Given the description of an element on the screen output the (x, y) to click on. 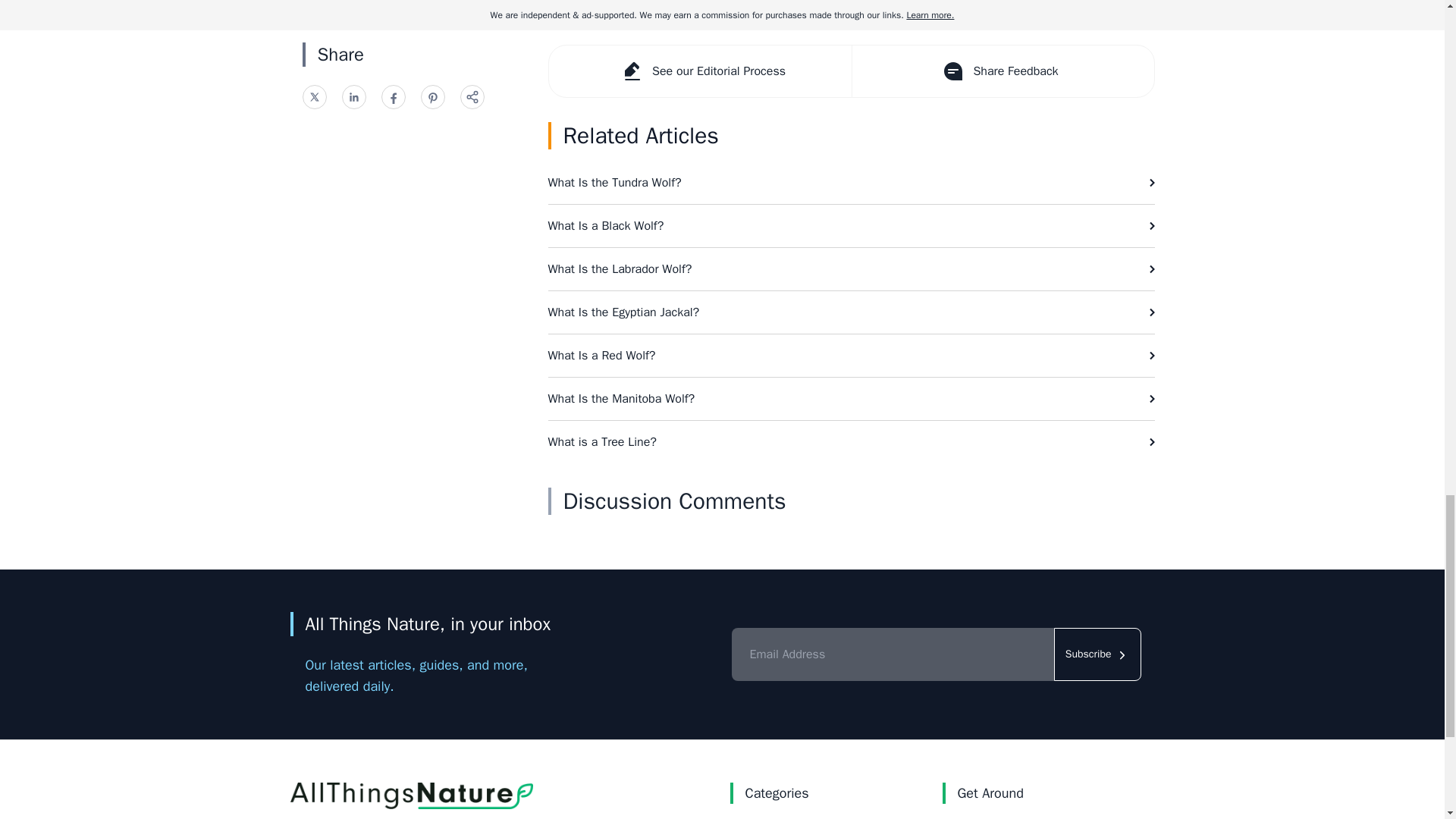
Share Feedback (1001, 71)
See our Editorial Process (699, 71)
What Is the Tundra Wolf? (850, 182)
